Given the description of an element on the screen output the (x, y) to click on. 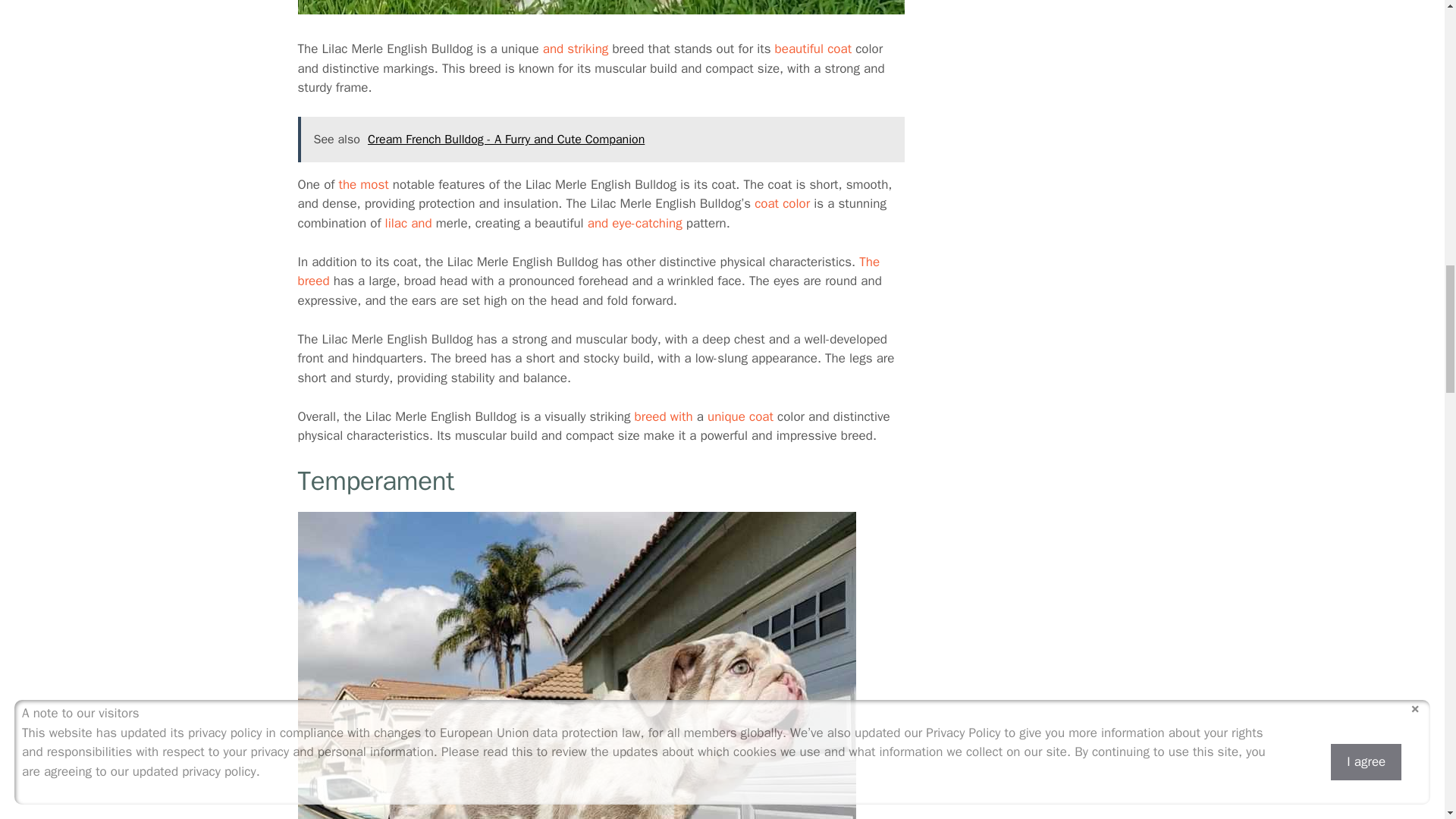
See also  Cream French Bulldog - A Furry and Cute Companion (600, 139)
and eye-catching (635, 222)
lilac and (408, 222)
beautiful coat (812, 48)
breed with (663, 416)
coat color (781, 203)
the most (362, 184)
and striking (575, 48)
unique coat (740, 416)
The breed (588, 271)
